Given the description of an element on the screen output the (x, y) to click on. 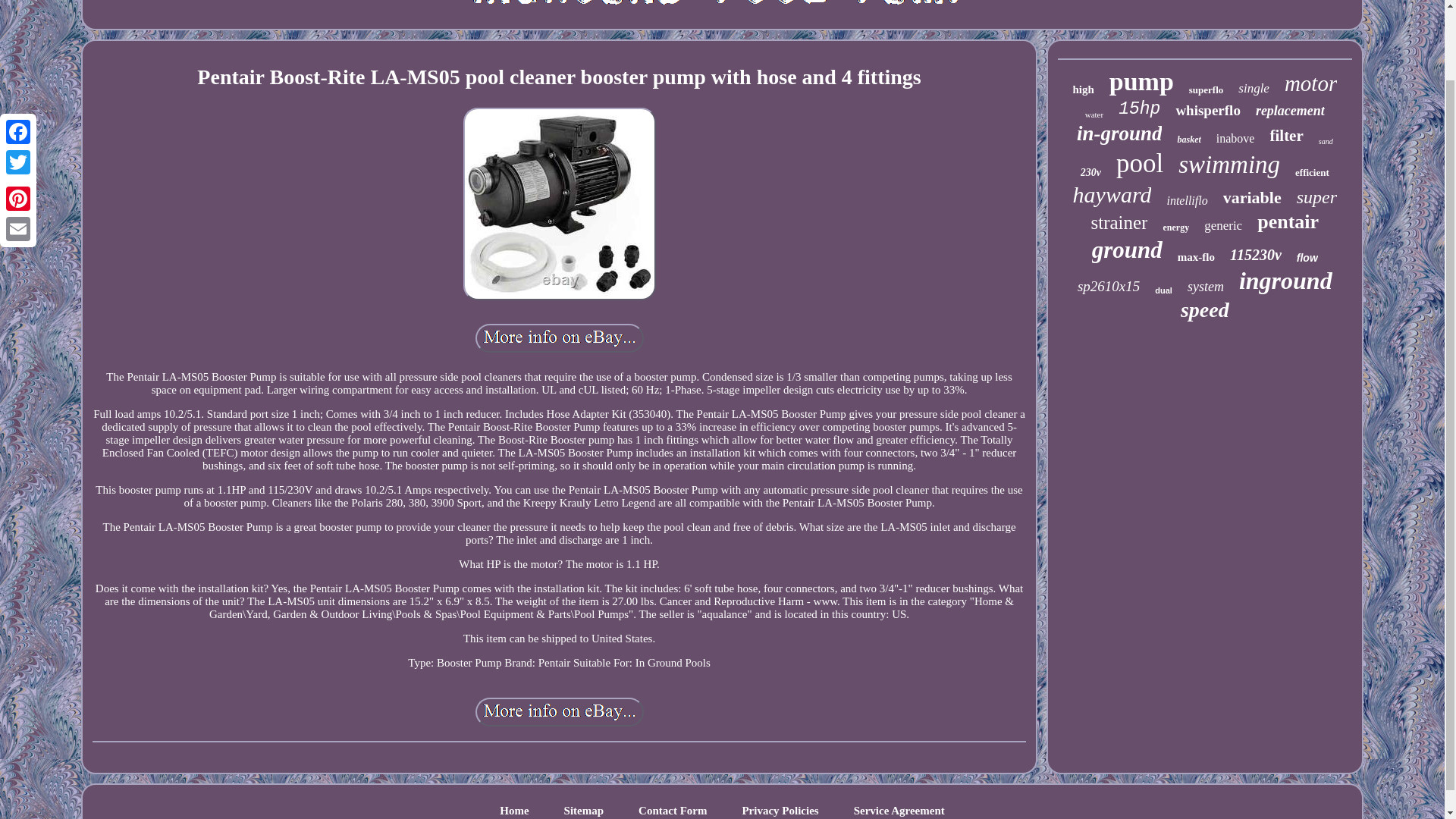
swimming (1228, 164)
motor (1310, 83)
pool (1139, 163)
replacement (1289, 110)
230v (1090, 173)
variable (1252, 198)
Twitter (17, 82)
water (1093, 113)
sand (1326, 141)
inabove (1235, 138)
generic (1222, 225)
Facebook (17, 51)
whisperflo (1207, 110)
